Given the description of an element on the screen output the (x, y) to click on. 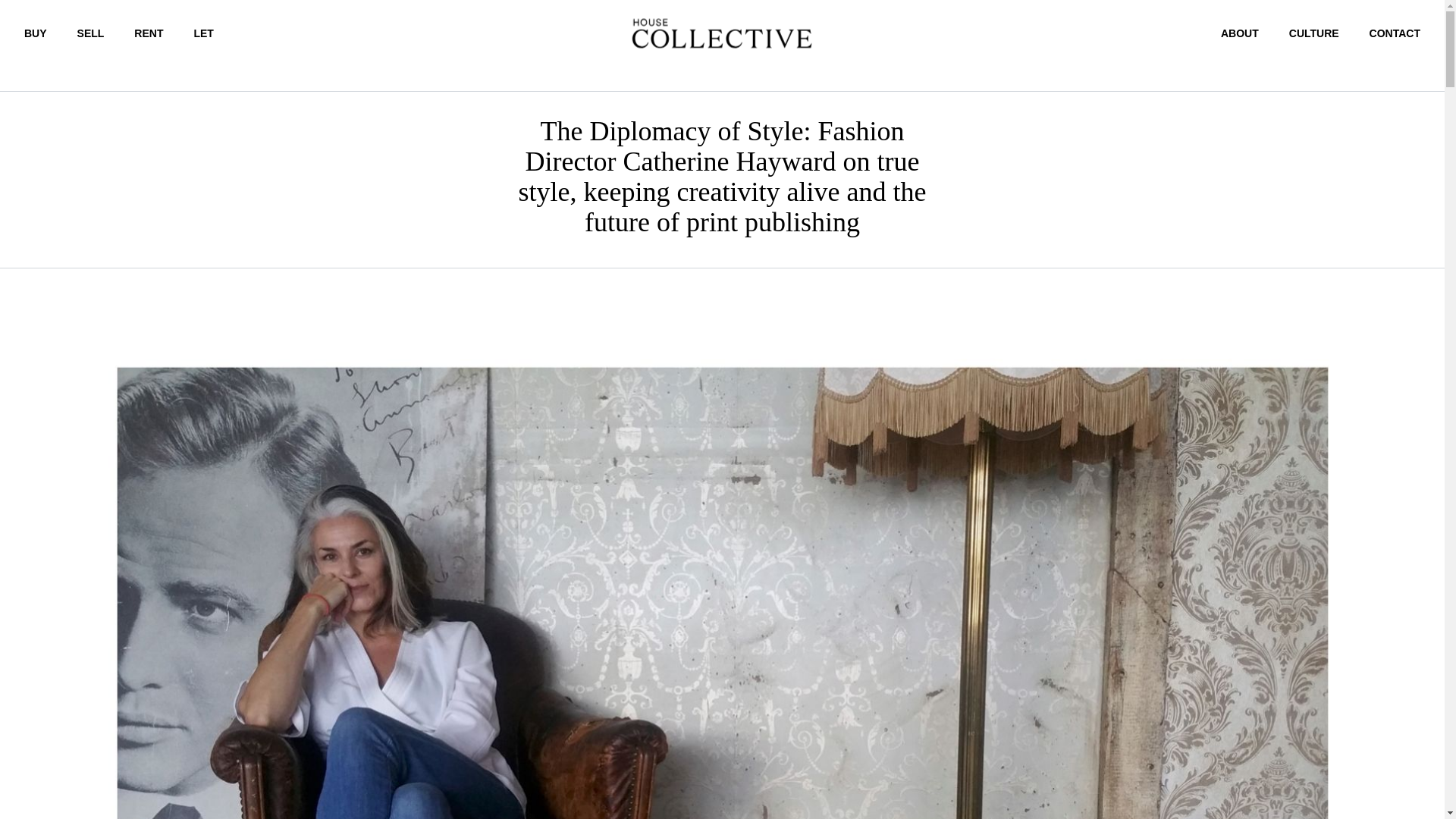
SELL (90, 33)
RENT (148, 33)
CONTACT (1395, 32)
LET (202, 33)
ABOUT (1240, 32)
BUY (35, 33)
CULTURE (1313, 32)
